Given the description of an element on the screen output the (x, y) to click on. 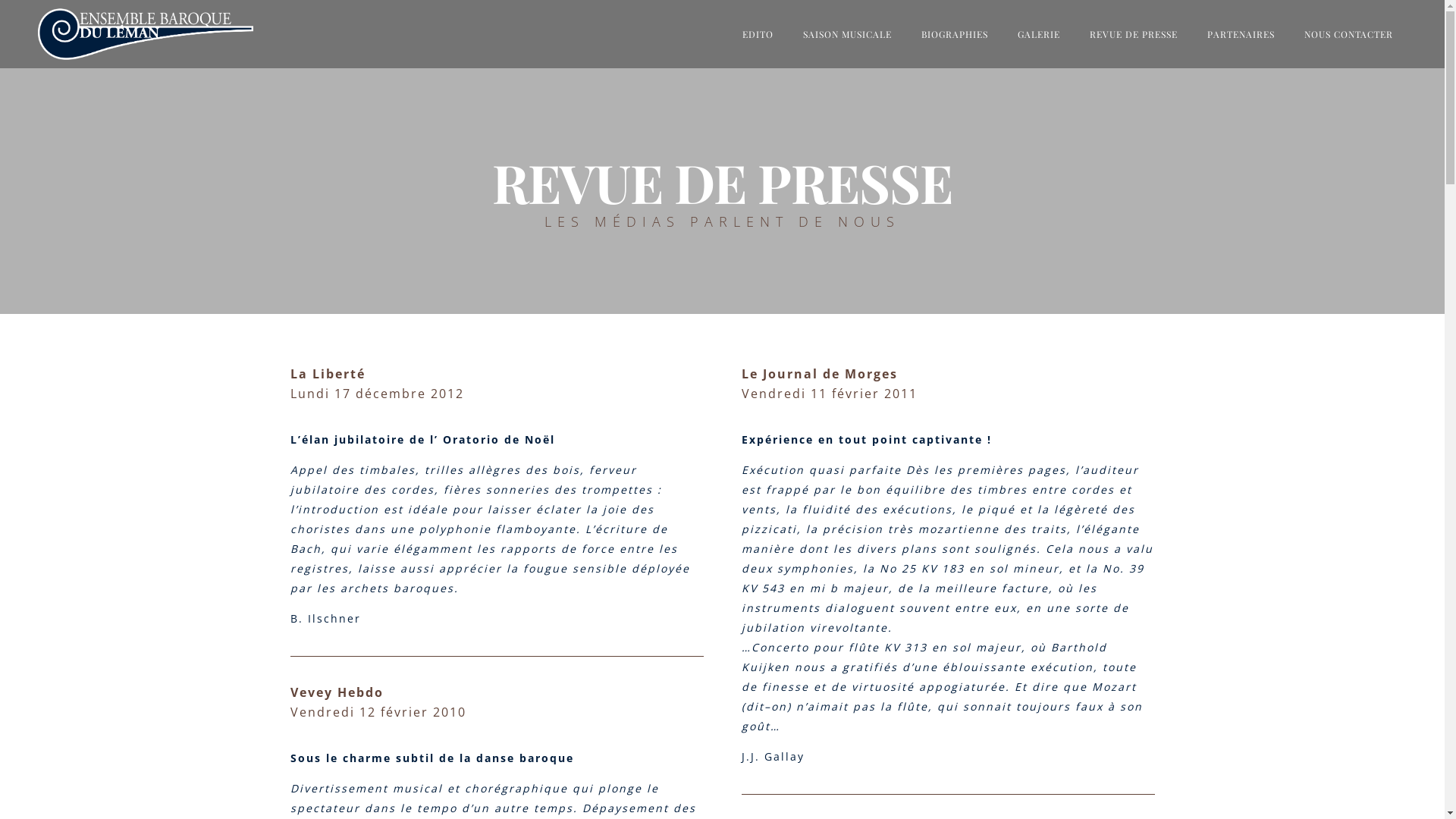
SAISON MUSICALE Element type: text (847, 34)
EDITO Element type: text (757, 34)
PARTENAIRES Element type: text (1240, 34)
NOUS CONTACTER Element type: text (1348, 34)
GALERIE Element type: text (1038, 34)
REVUE DE PRESSE Element type: text (1133, 34)
BIOGRAPHIES Element type: text (954, 34)
